Given the description of an element on the screen output the (x, y) to click on. 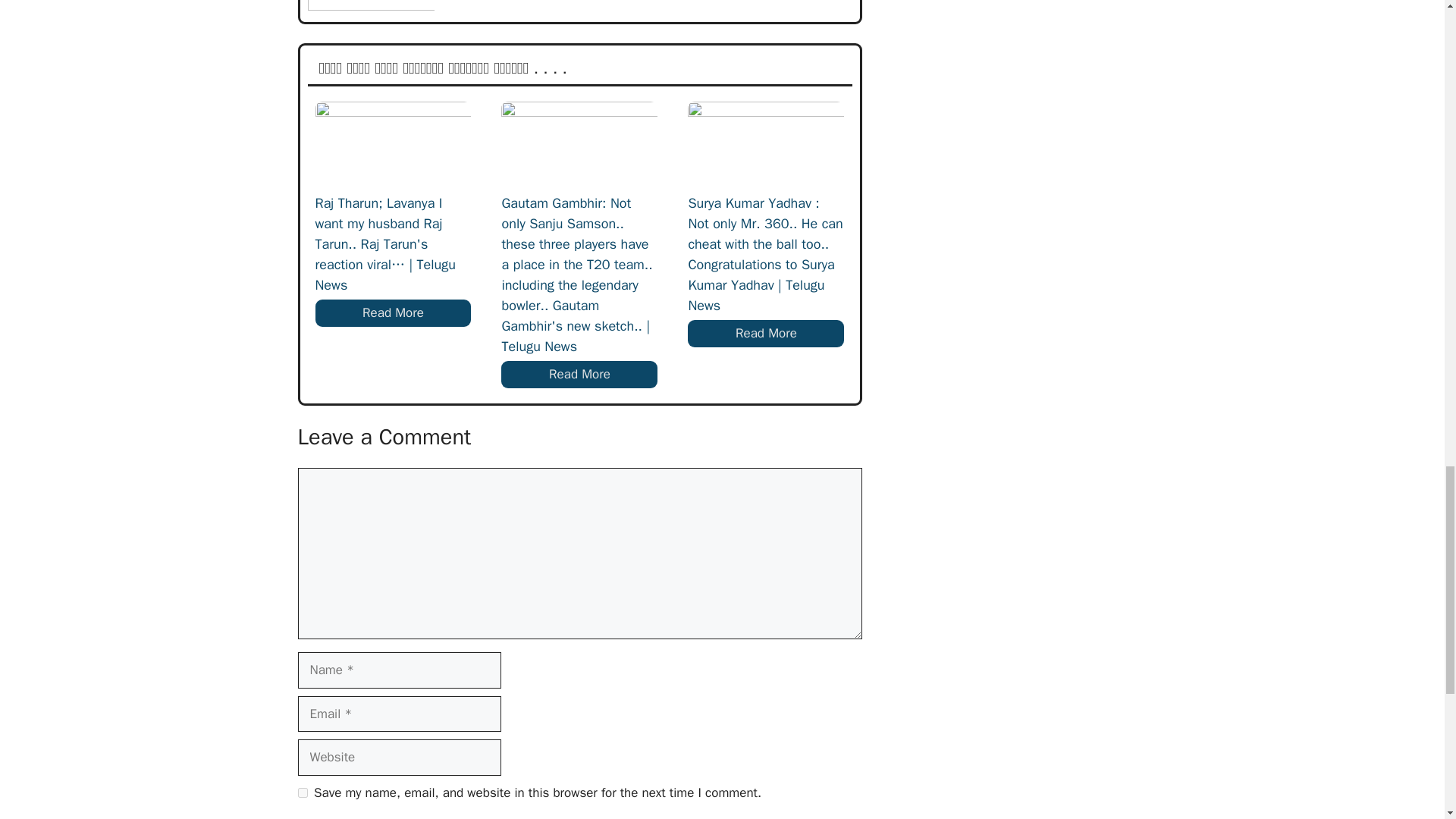
yes (302, 792)
Read More (393, 312)
Read More (579, 374)
unnamed (370, 5)
Read More (765, 333)
